Given the description of an element on the screen output the (x, y) to click on. 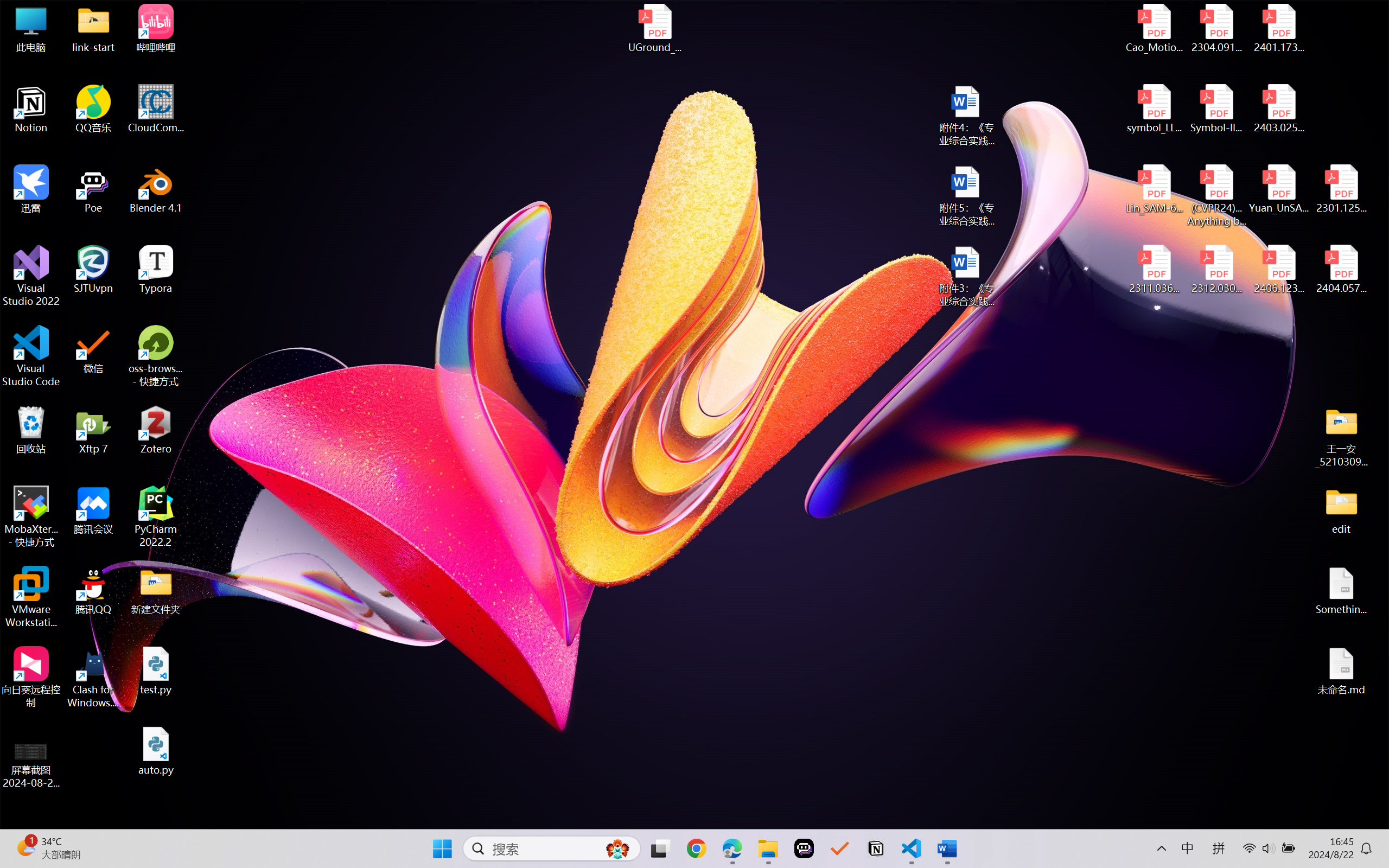
symbol_LLM.pdf (1154, 109)
2406.12373v2.pdf (1278, 269)
Visual Studio Code (31, 355)
